Given the description of an element on the screen output the (x, y) to click on. 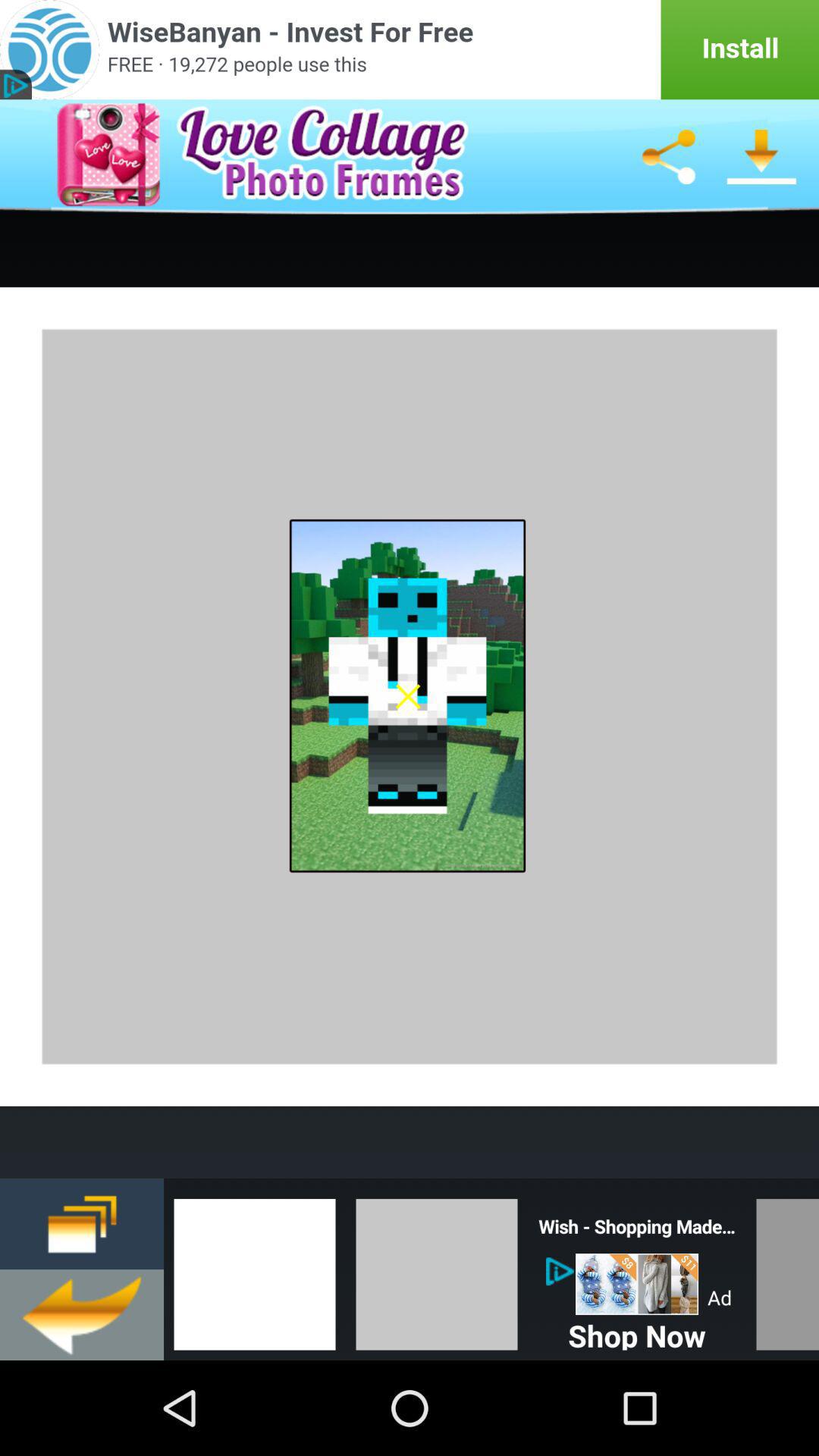
it 's an advertising (409, 49)
